Given the description of an element on the screen output the (x, y) to click on. 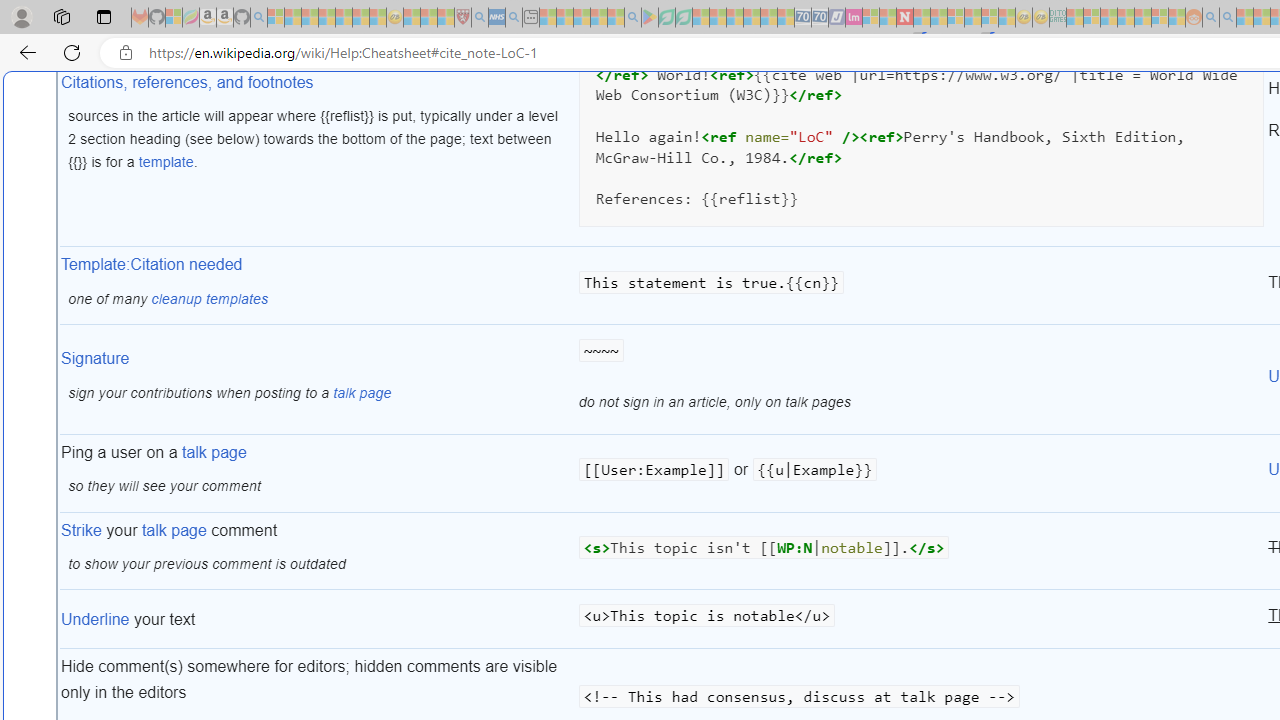
~~~~ do not sign in an article, only on talk pages (921, 380)
Template:Citation needed (152, 265)
Citations, references, and footnotes (187, 81)
utah sues federal government - Search - Sleeping (513, 17)
